Given the description of an element on the screen output the (x, y) to click on. 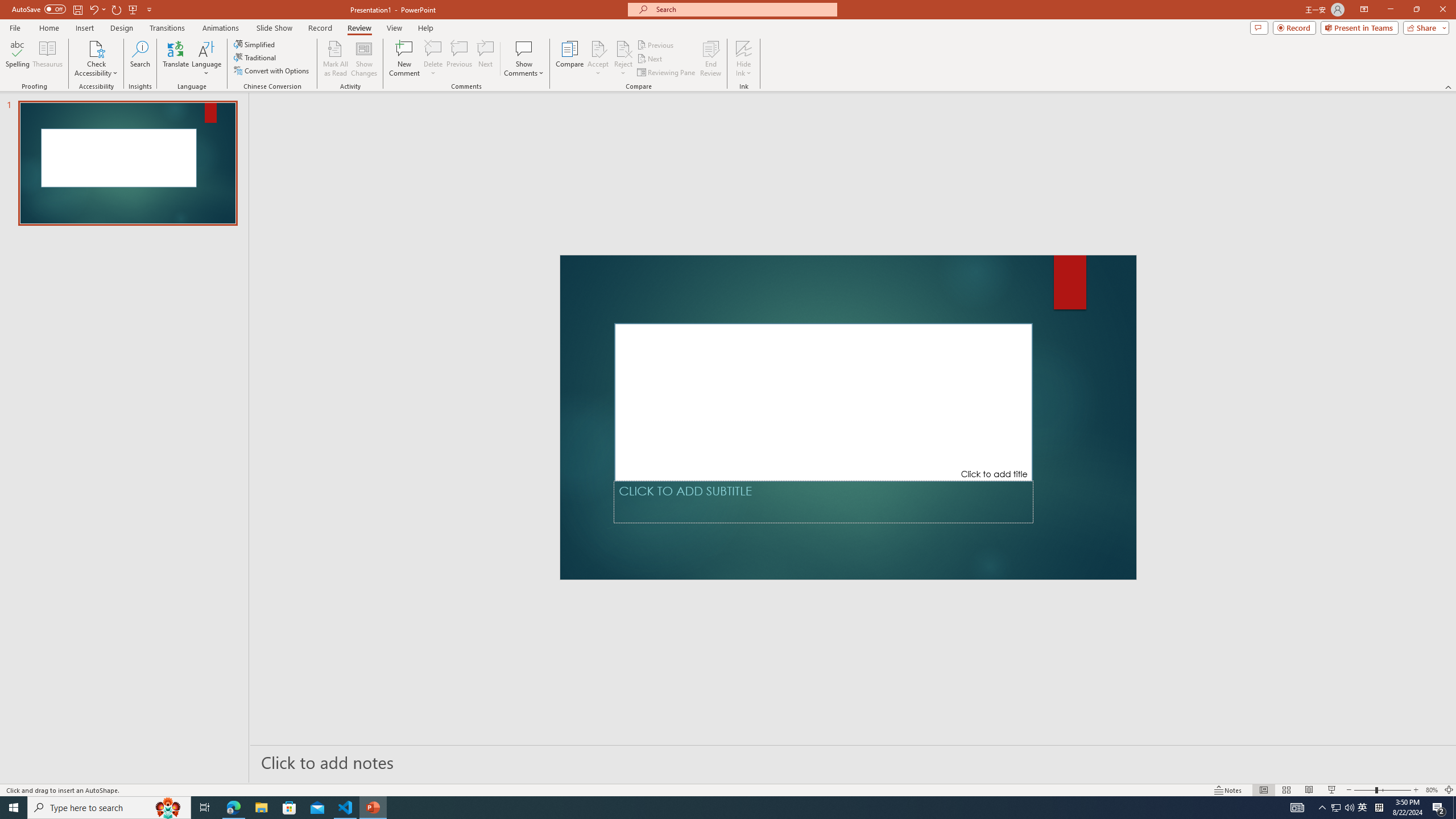
Delete (432, 48)
More Options (743, 68)
Hide Ink (743, 58)
Comments (1259, 27)
Zoom to Fit  (1449, 790)
Collapse the Ribbon (1448, 86)
Check Accessibility (95, 58)
Customize Quick Access Toolbar (149, 9)
Home (48, 28)
Insert (83, 28)
Next (649, 58)
Language (206, 58)
Reject (622, 58)
